Given the description of an element on the screen output the (x, y) to click on. 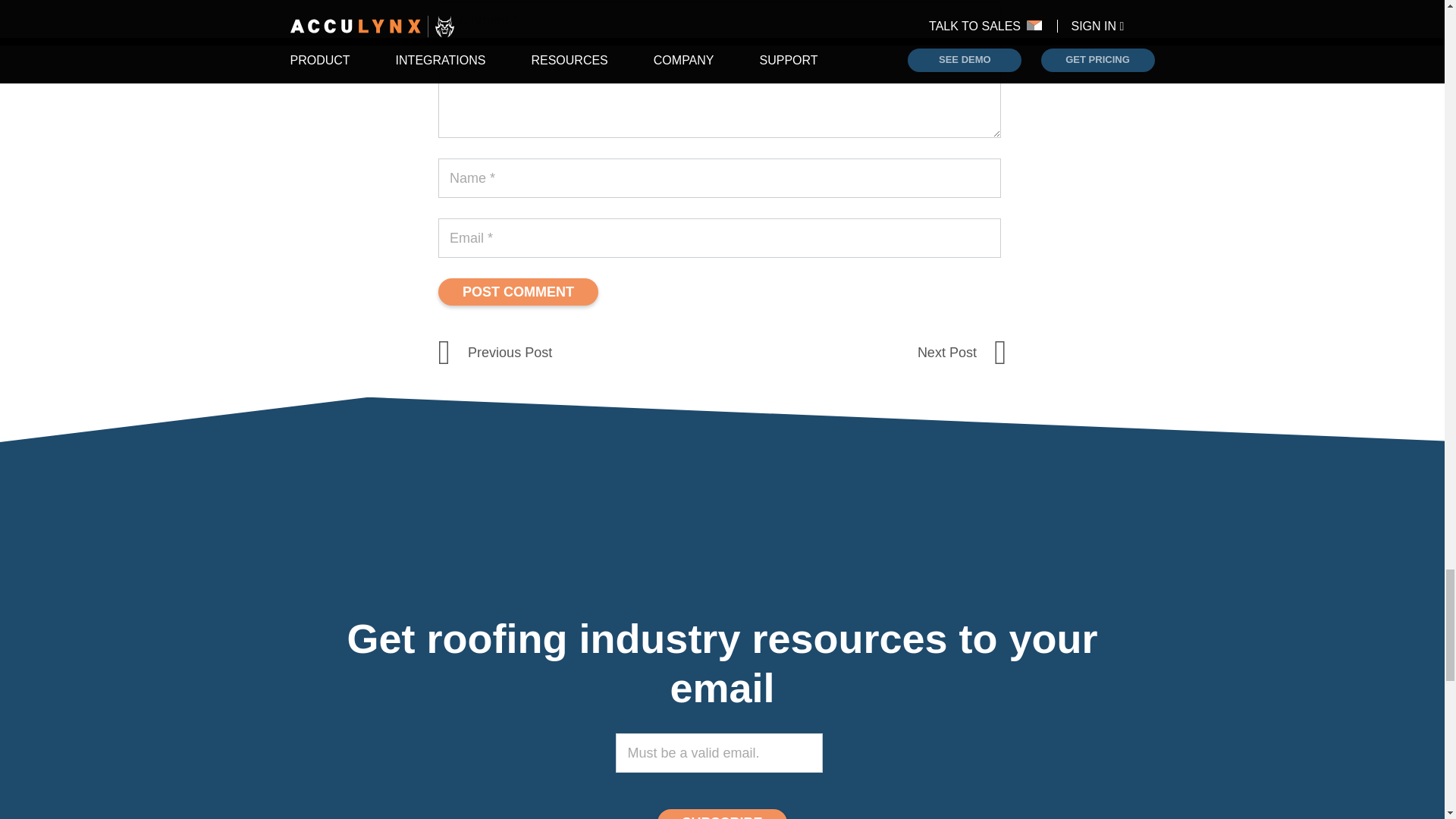
Subscribe (722, 814)
